Given the description of an element on the screen output the (x, y) to click on. 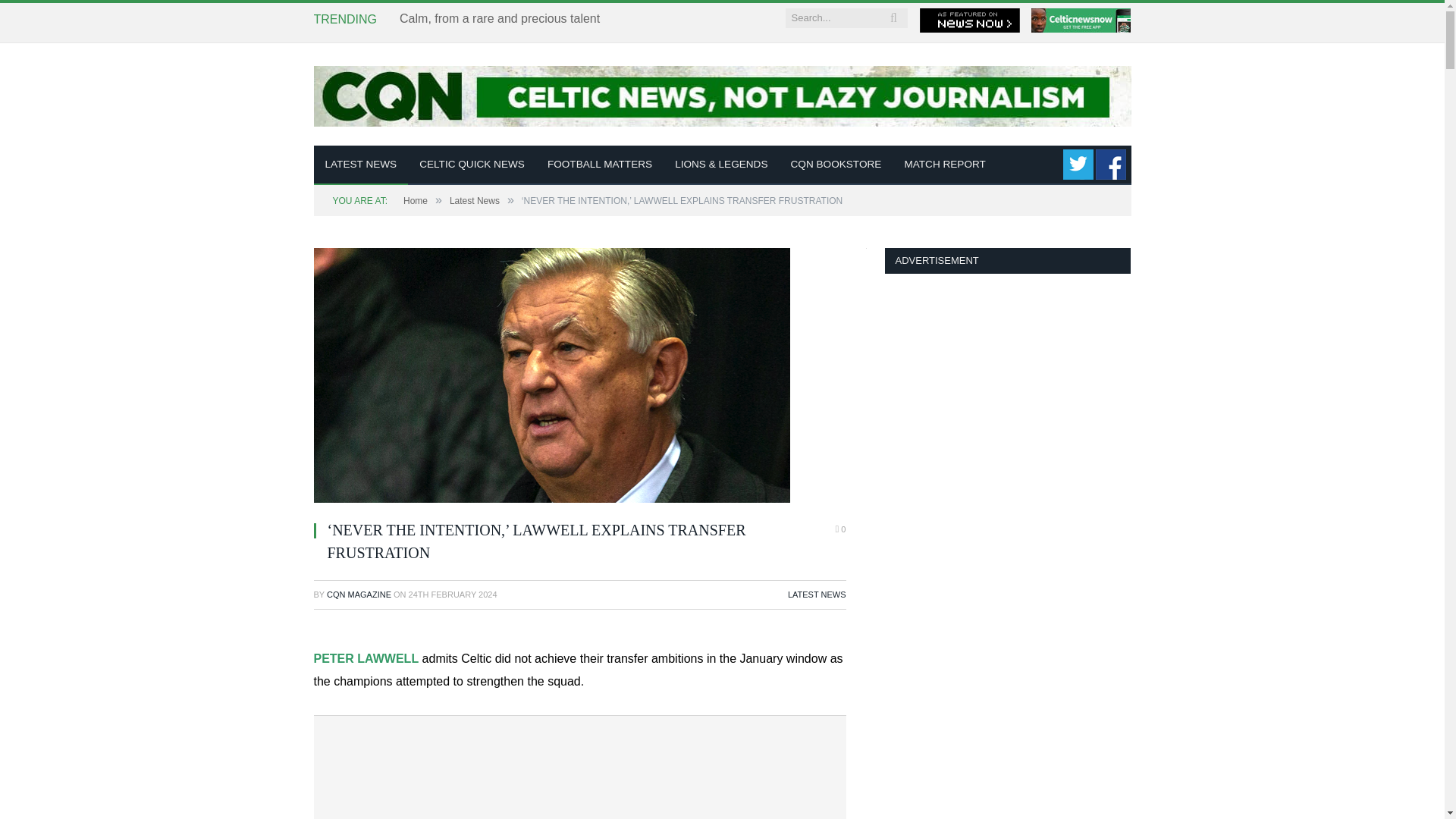
FOOTBALL MATTERS (599, 165)
CQN BOOKSTORE (835, 165)
Home (415, 200)
Calm, from a rare and precious talent (502, 19)
LATEST NEWS (361, 165)
CELTIC QUICK NEWS (471, 165)
MATCH REPORT (944, 165)
Calm, from a rare and precious talent (502, 19)
